Given the description of an element on the screen output the (x, y) to click on. 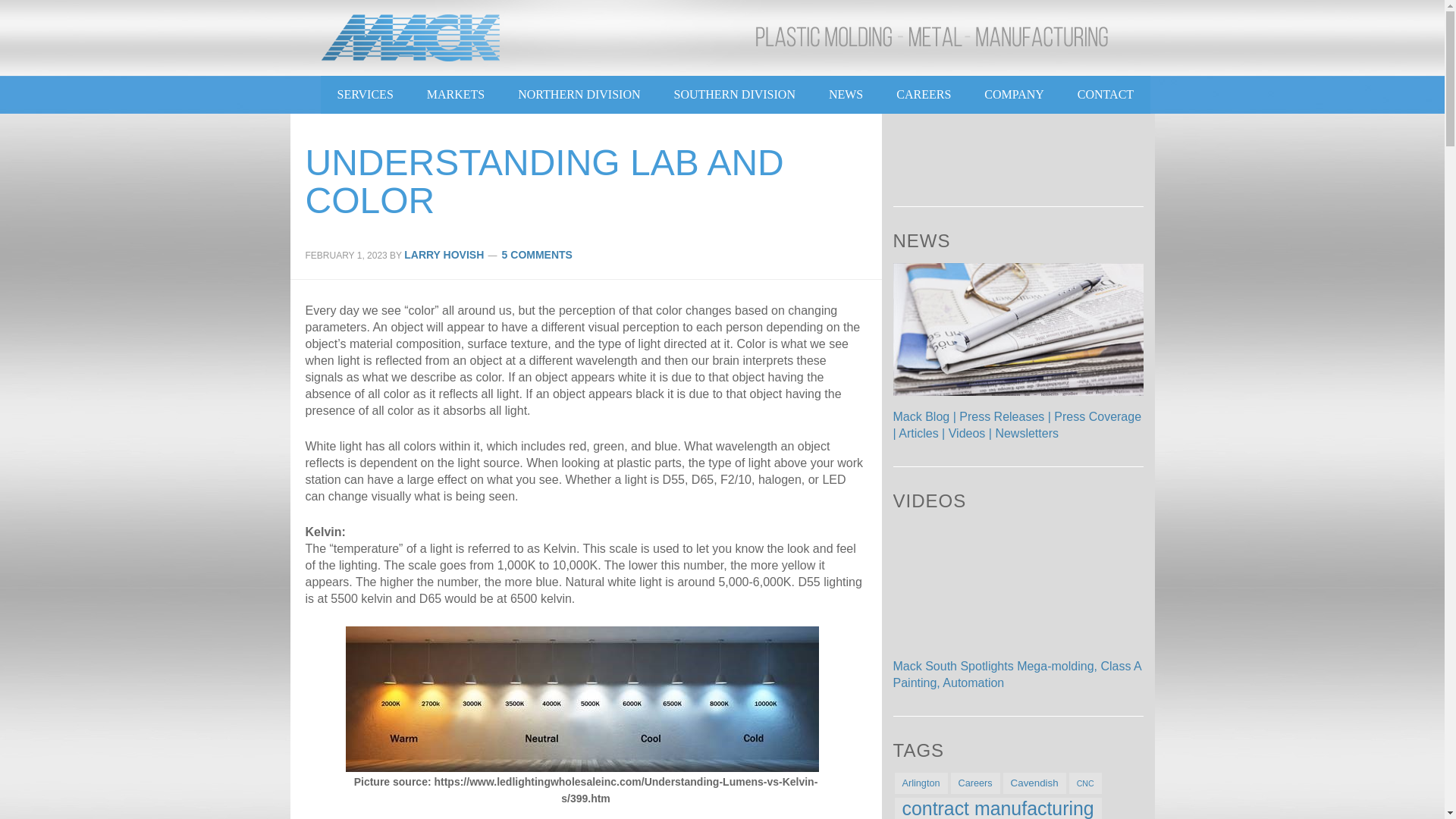
SERVICES (364, 94)
NORTHERN DIVISION (578, 94)
CAREERS (923, 94)
Mack (410, 38)
SOUTHERN DIVISION (733, 94)
MARKETS (455, 94)
NEWS (845, 94)
